Given the description of an element on the screen output the (x, y) to click on. 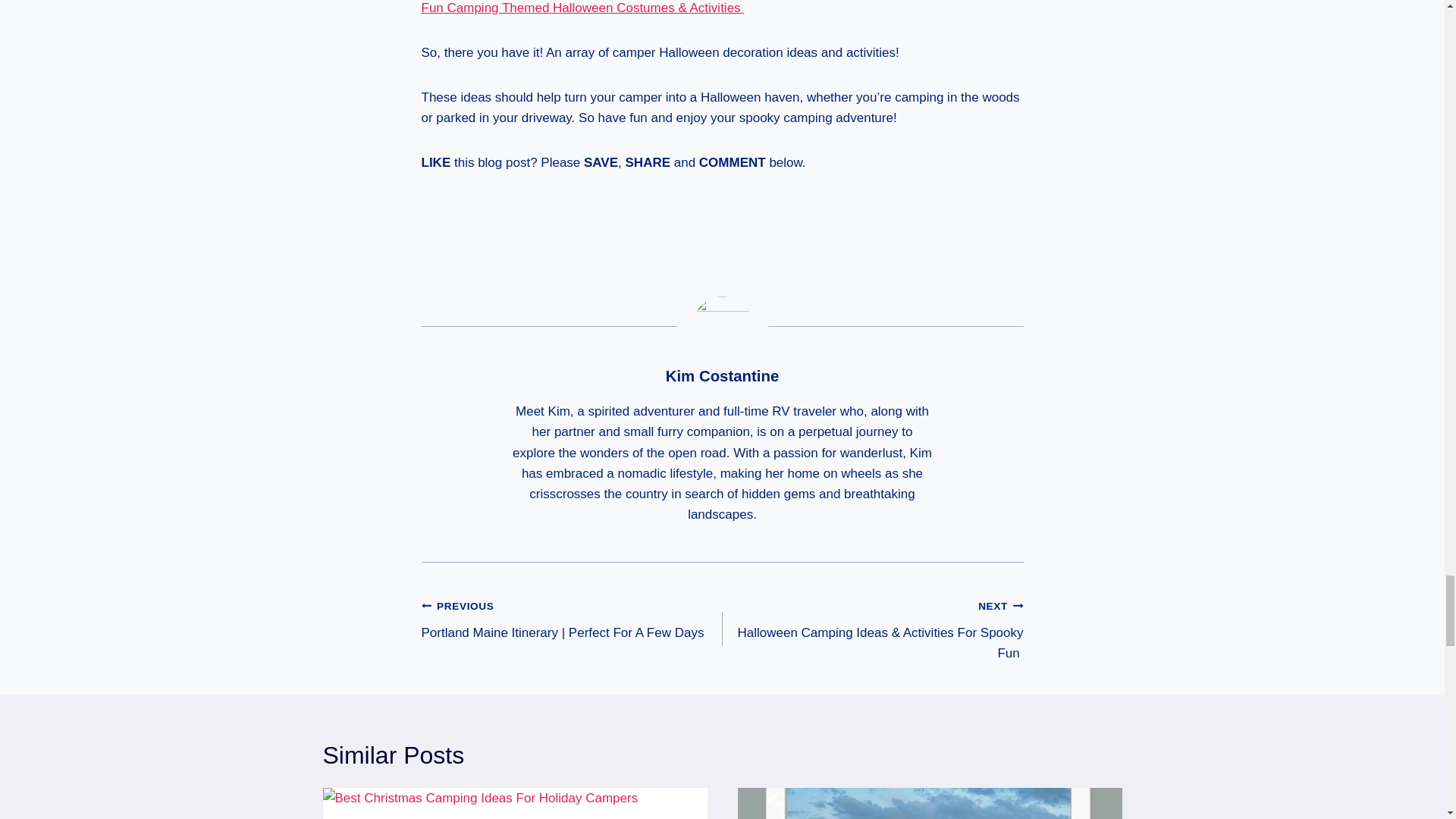
Posts by Kim Costantine (721, 375)
